Given the description of an element on the screen output the (x, y) to click on. 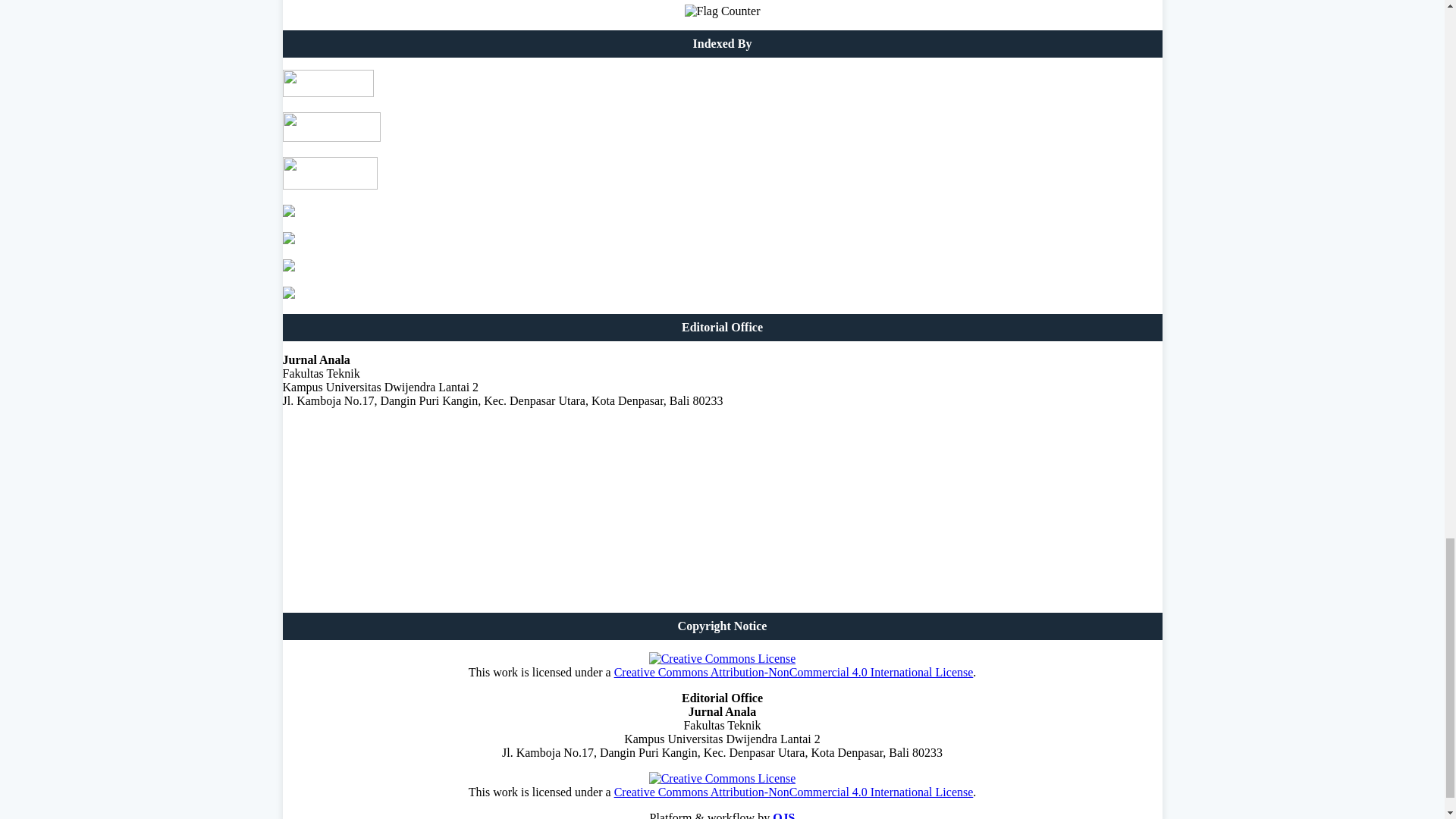
BASE Search (288, 212)
Index Copernicus (288, 239)
Dimensions (288, 267)
Garuda (329, 185)
